Given the description of an element on the screen output the (x, y) to click on. 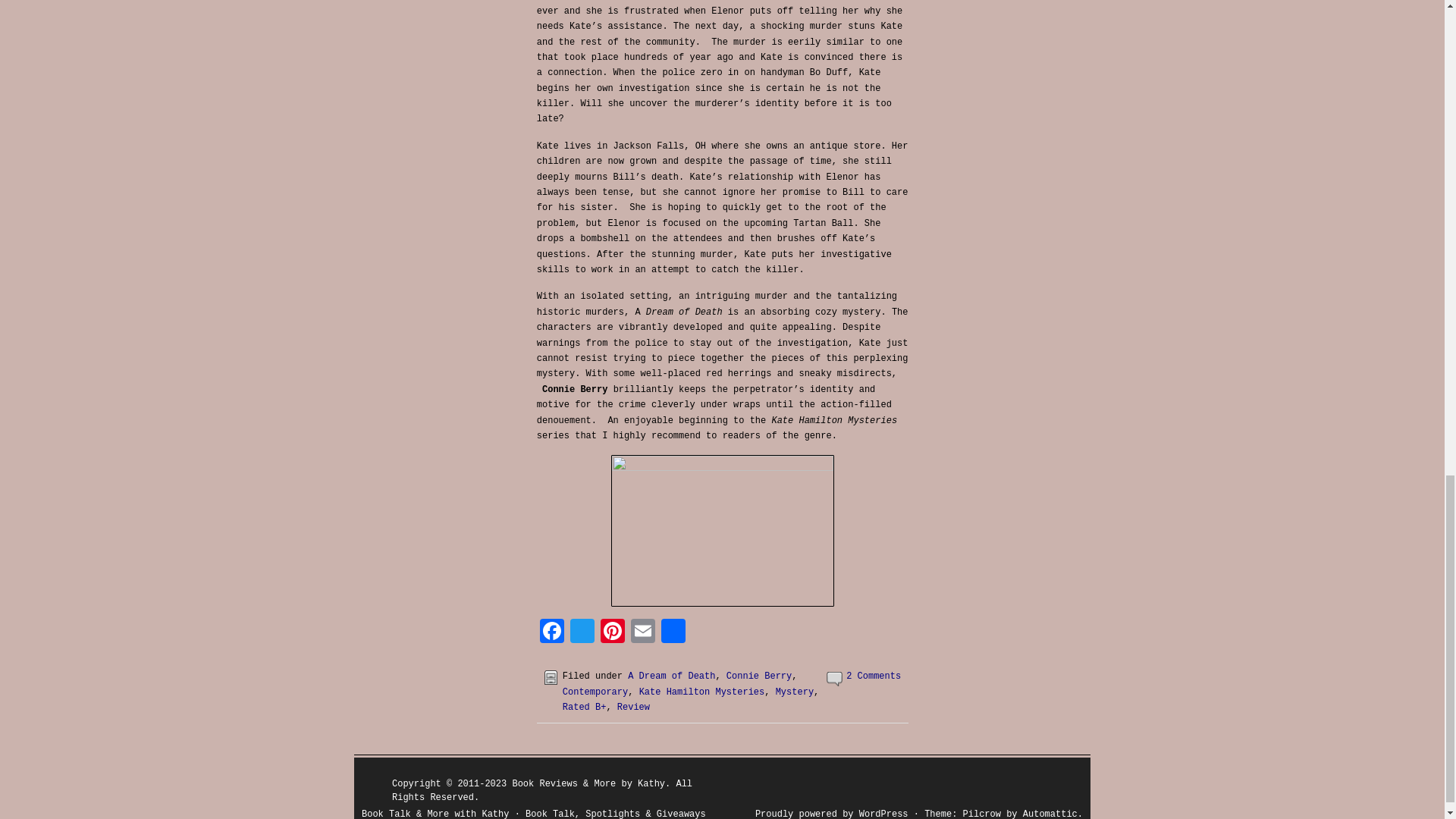
Pinterest (611, 634)
Email (642, 634)
Mystery (794, 692)
Twitter (581, 634)
Review (633, 706)
Facebook (552, 634)
2 Comments (873, 675)
Facebook (552, 634)
A Dream of Death (670, 675)
Email (642, 634)
